Given the description of an element on the screen output the (x, y) to click on. 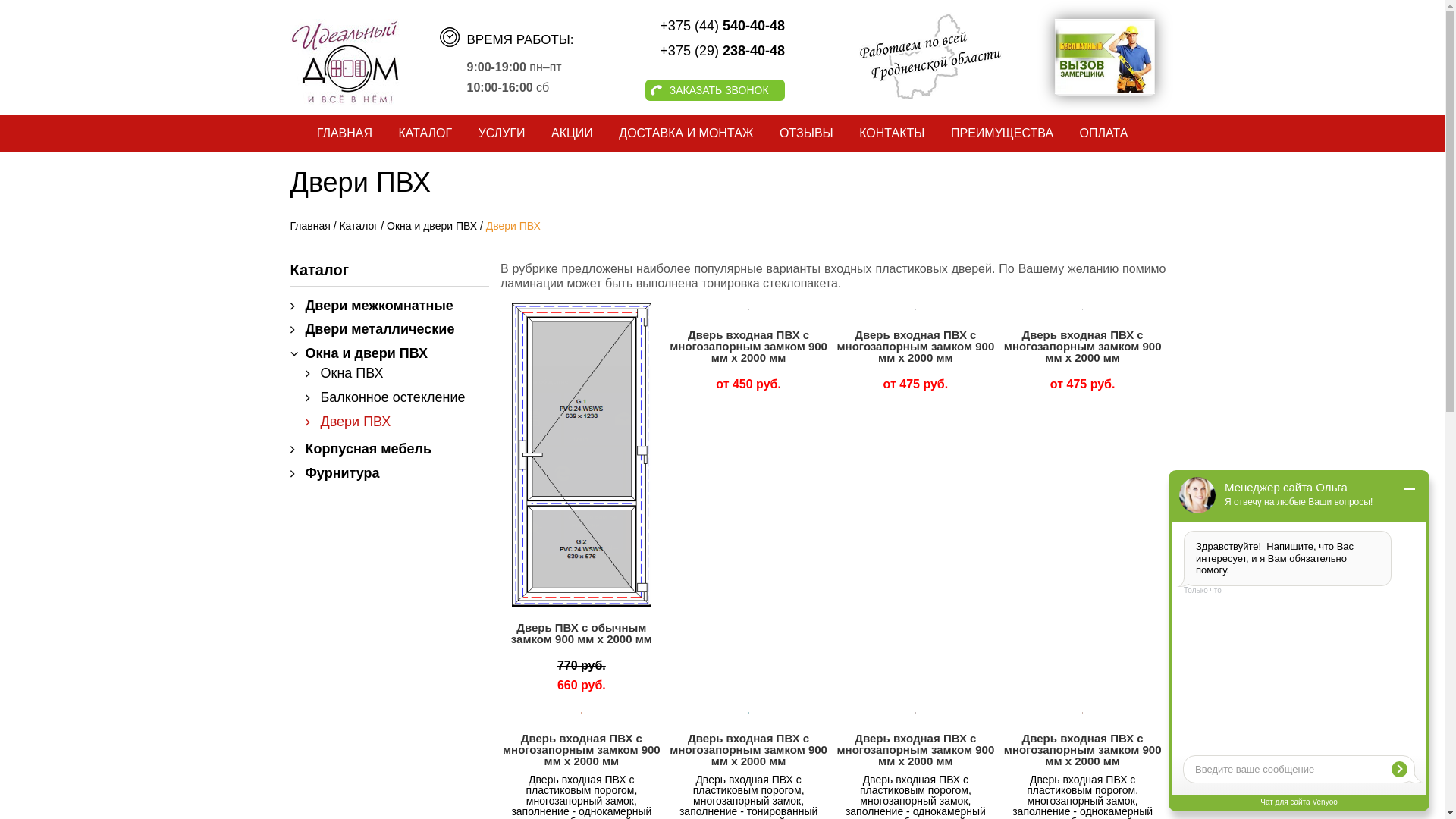
+375 (44) 540-40-48 Element type: text (684, 25)
+375 (29) 238-40-48 Element type: text (684, 50)
